Given the description of an element on the screen output the (x, y) to click on. 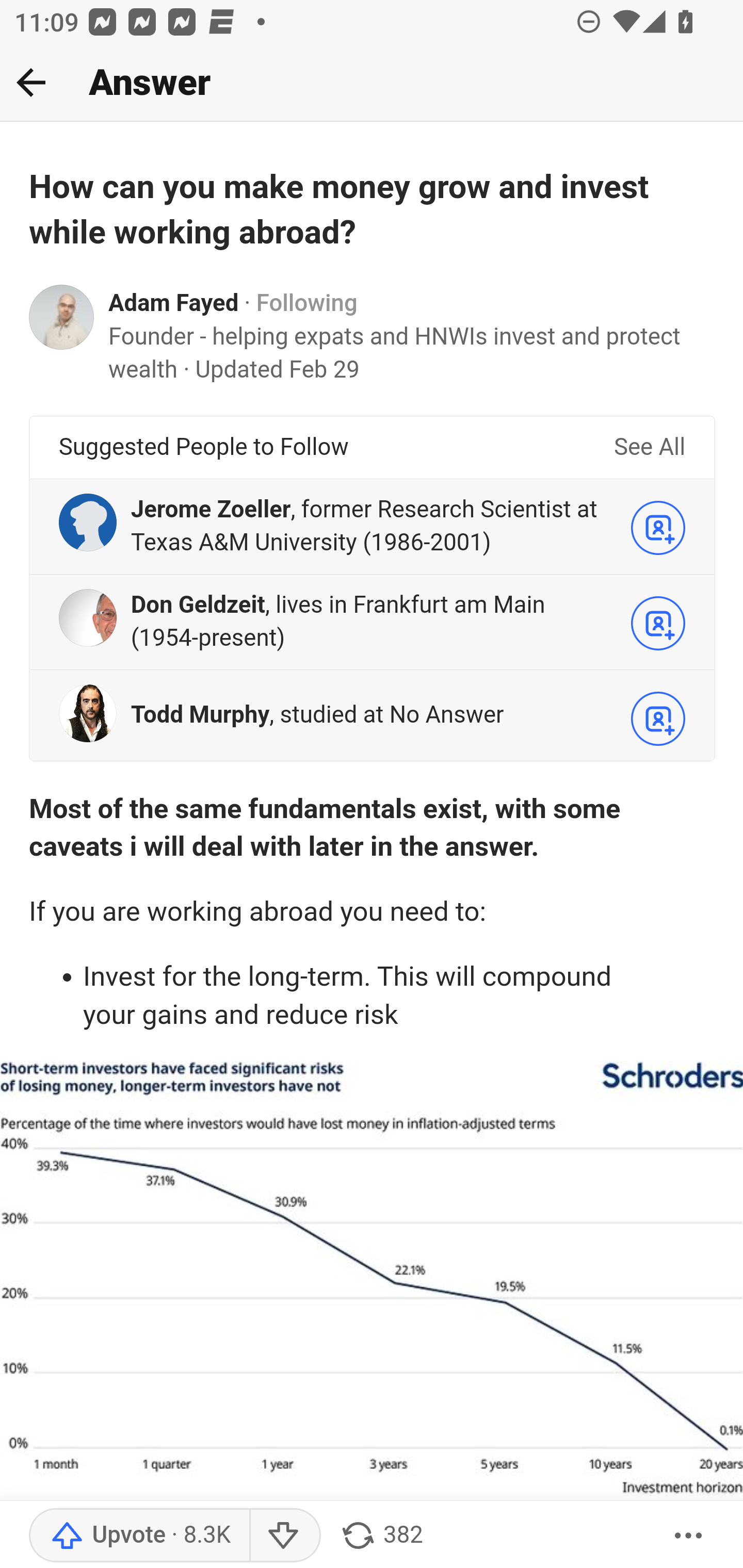
Back (30, 82)
Profile photo for Adam Fayed (61, 317)
Adam Fayed (173, 303)
Following (306, 303)
See All (649, 446)
Profile photo for Jerome Zoeller (87, 521)
Jerome Zoeller (211, 509)
Follow Jerome Zoeller (658, 527)
Profile photo for Don Geldzeit (87, 618)
Don Geldzeit (197, 606)
Follow Don Geldzeit (658, 623)
Profile photo for Todd Murphy (87, 713)
Follow Todd Murphy (658, 718)
Todd Murphy (200, 714)
main-qimg-f4f2abaf83ad35cc7004cd539396be25-lq (371, 1301)
Upvote (138, 1535)
Downvote (283, 1535)
382 shares (380, 1535)
More (688, 1535)
